Given the description of an element on the screen output the (x, y) to click on. 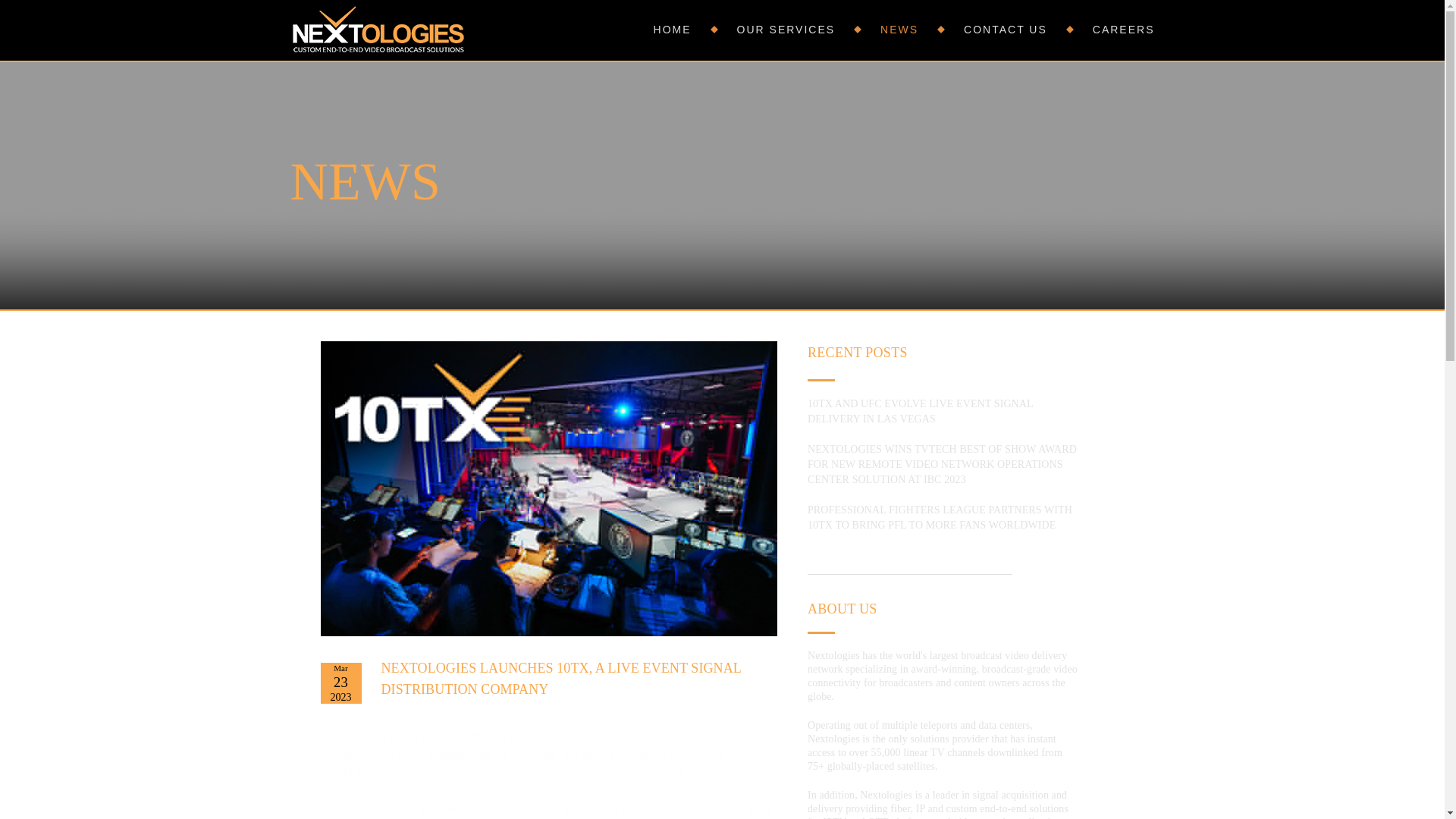
10TX AND UFC EVOLVE LIVE EVENT SIGNAL DELIVERY IN LAS VEGAS (920, 411)
OUR SERVICES (763, 29)
CAREERS (1100, 29)
HOME (672, 29)
OUR SERVICES (763, 29)
CONTACT US (982, 29)
NEWS (876, 29)
